Given the description of an element on the screen output the (x, y) to click on. 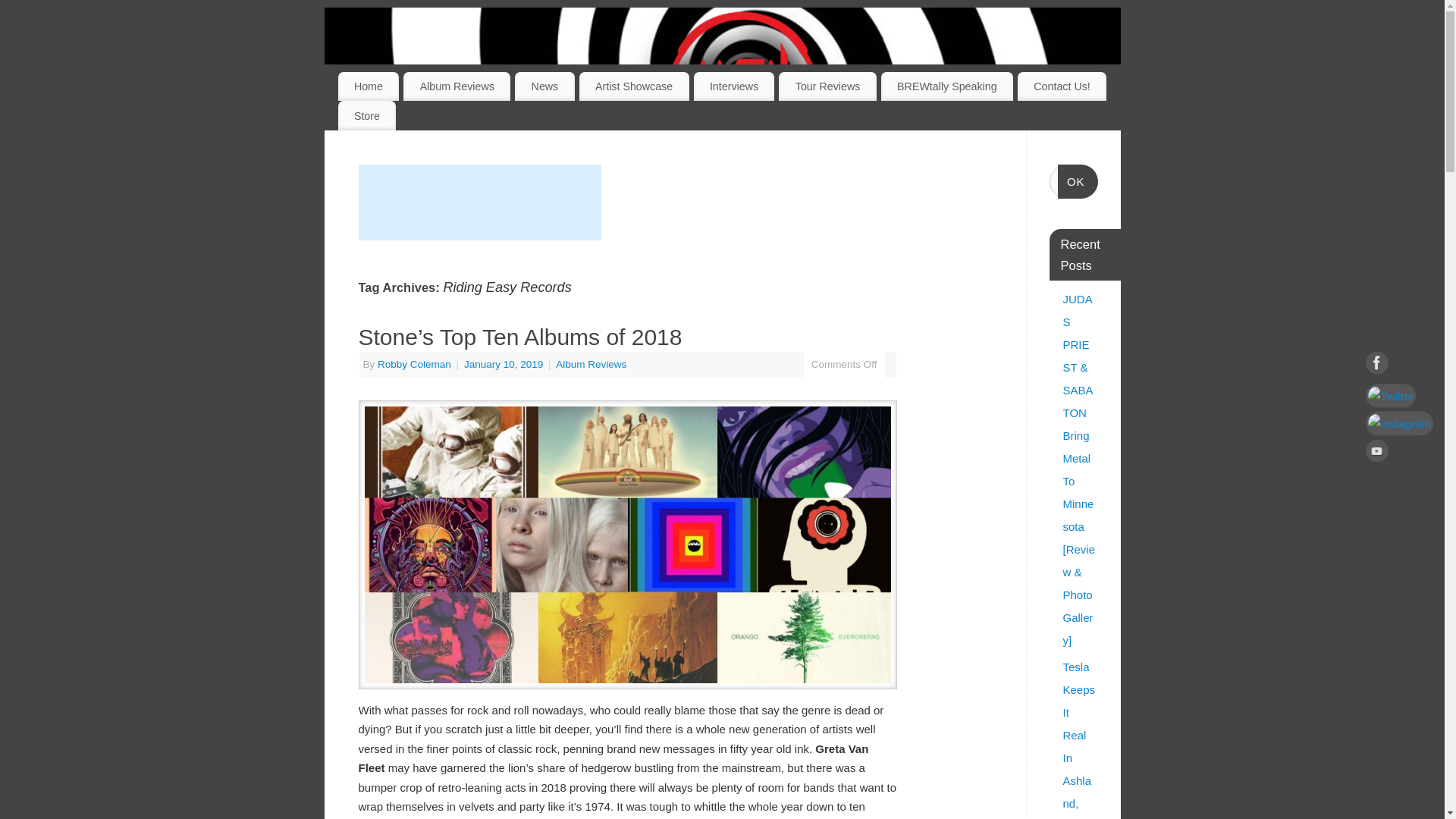
Contact Us! (1061, 86)
Home (367, 86)
YouTube (1398, 452)
10:06 am (505, 364)
News (544, 86)
Album Reviews (591, 364)
Tour Reviews (827, 86)
Metal Nexus (741, 82)
Instagram (1398, 422)
January 10, 2019 (505, 364)
